Given the description of an element on the screen output the (x, y) to click on. 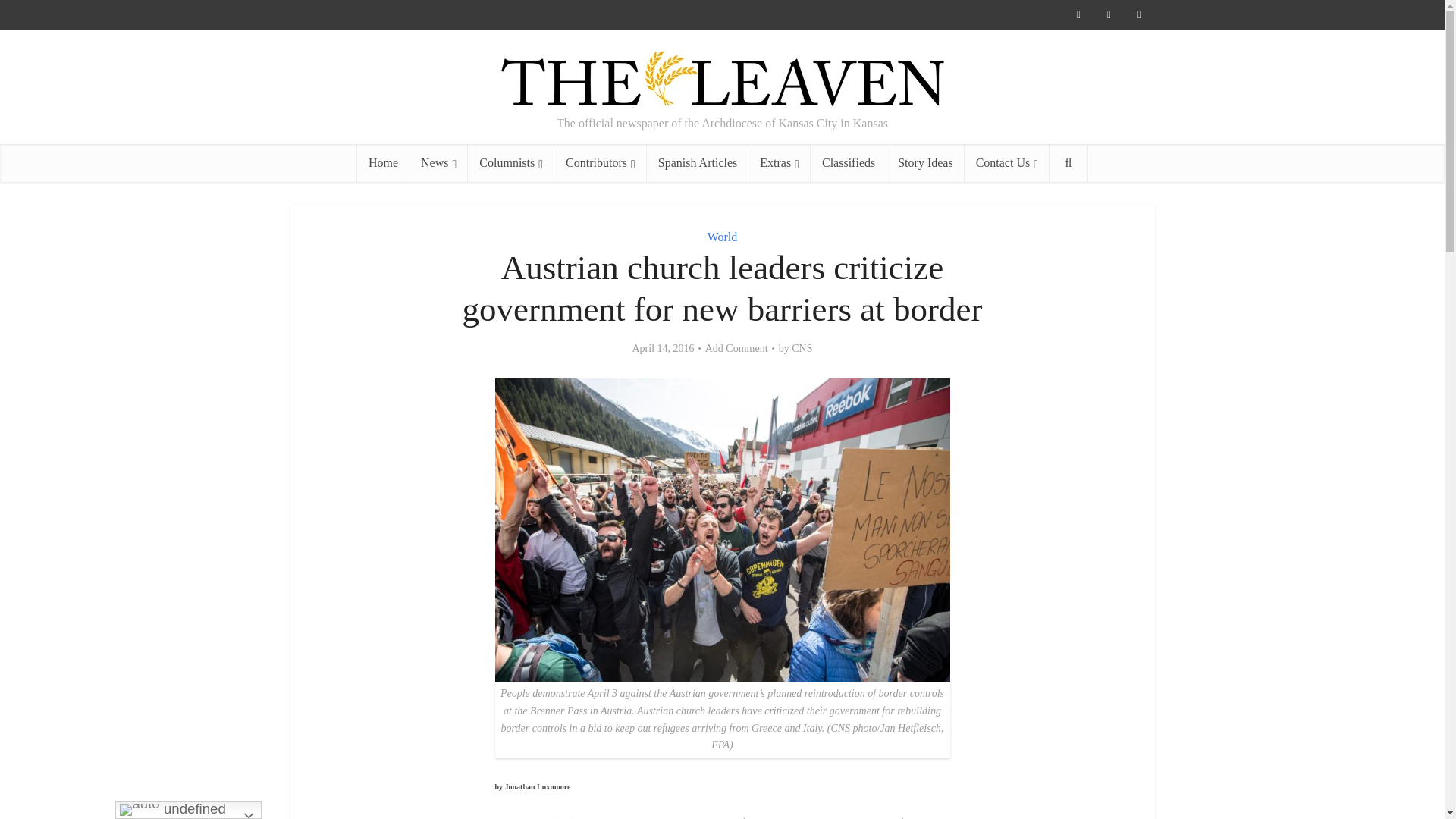
None (438, 162)
Extras (779, 162)
Spanish Articles (697, 162)
Home (382, 162)
Columnists (510, 162)
Contributors (600, 162)
Classifieds (848, 162)
News (438, 162)
